Given the description of an element on the screen output the (x, y) to click on. 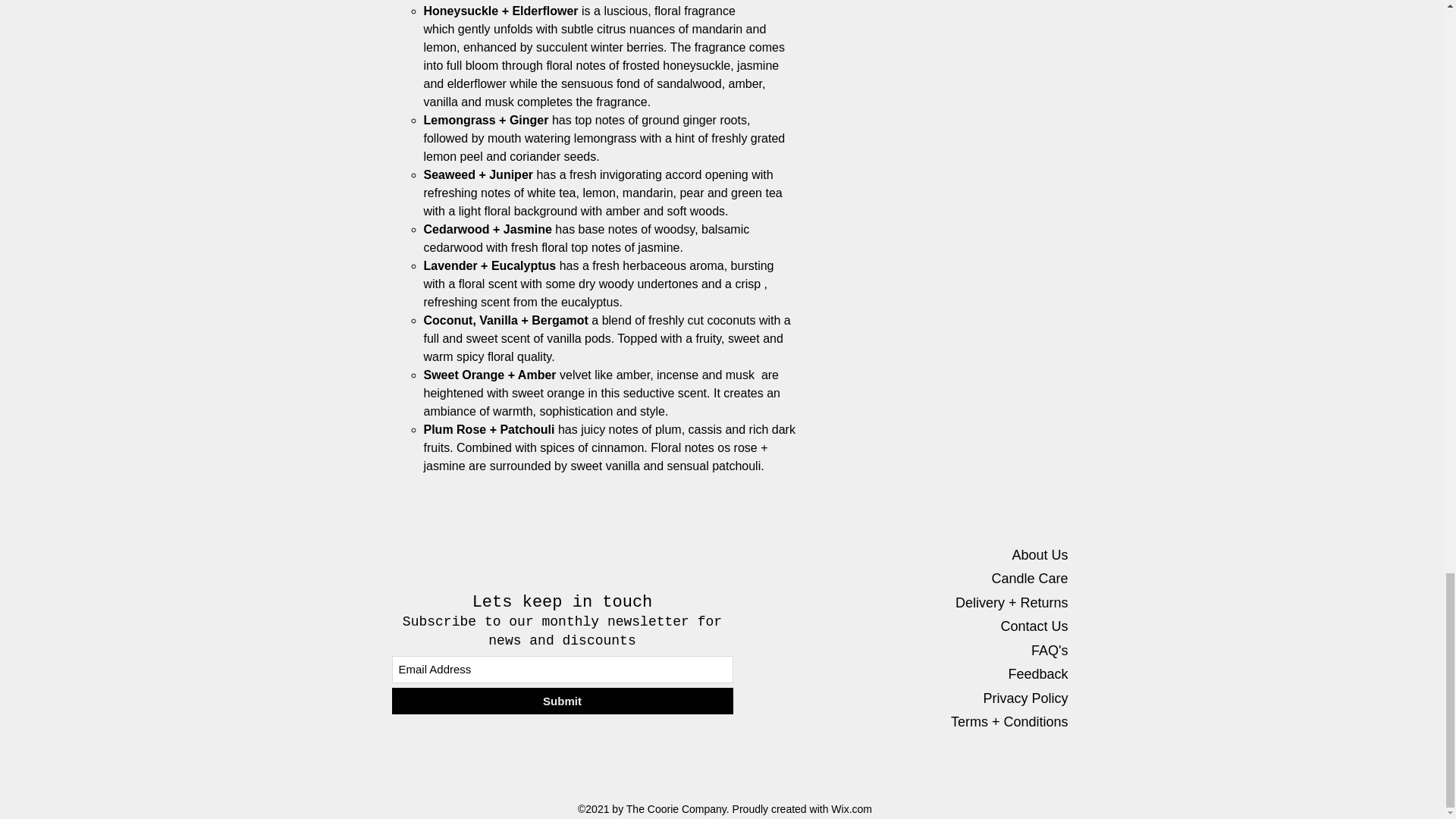
About Us (1039, 554)
Submit (561, 700)
Candle Care (1029, 578)
